Given the description of an element on the screen output the (x, y) to click on. 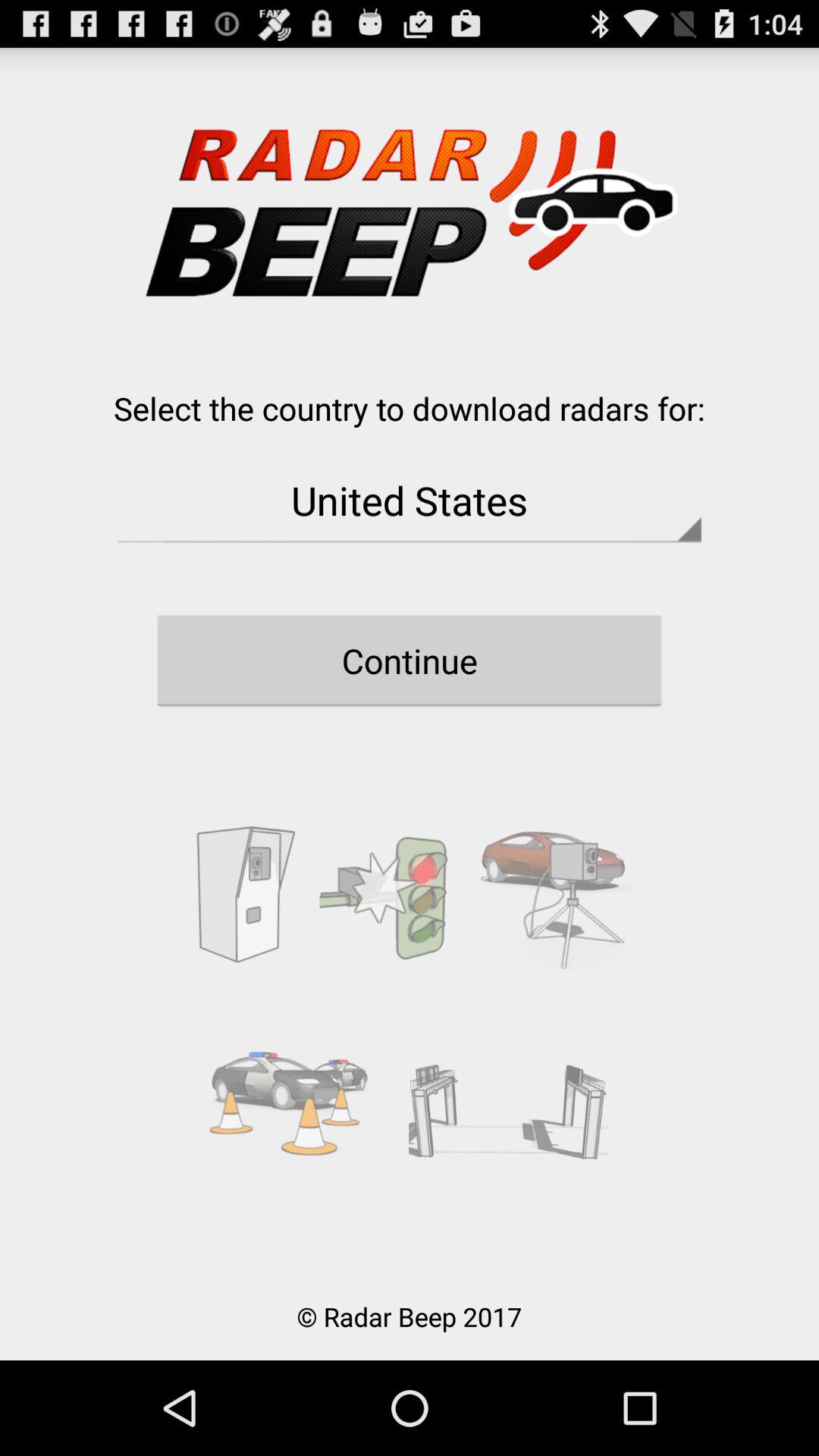
turn off the icon below select the country icon (409, 499)
